Given the description of an element on the screen output the (x, y) to click on. 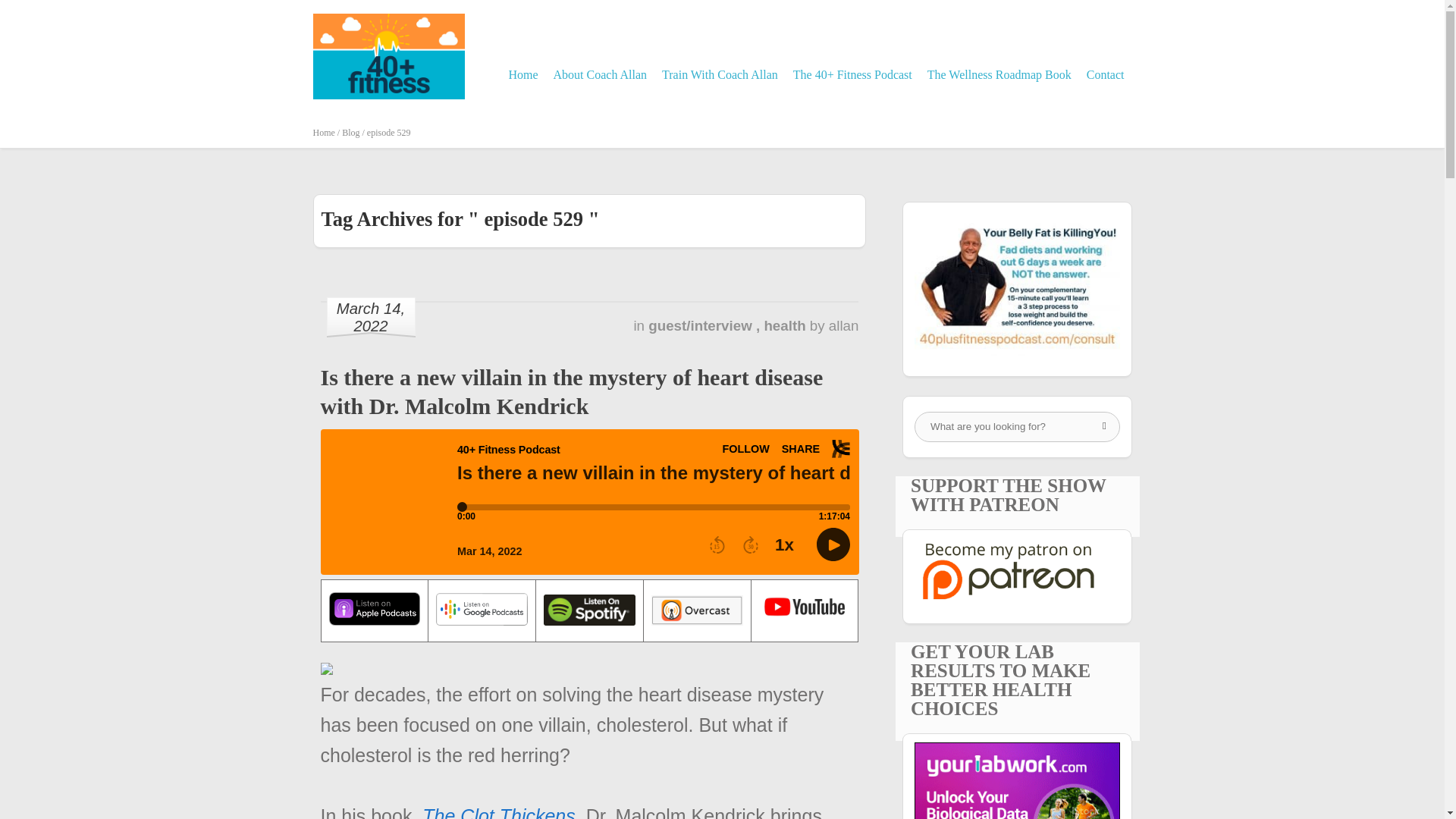
allan (843, 325)
Home (522, 74)
The Clot Thickens (498, 812)
health (785, 325)
Train With Coach Allan (719, 74)
Contact (1105, 74)
About Coach Allan (600, 74)
The Wellness Roadmap Book (999, 74)
Embed Player (589, 501)
